Given the description of an element on the screen output the (x, y) to click on. 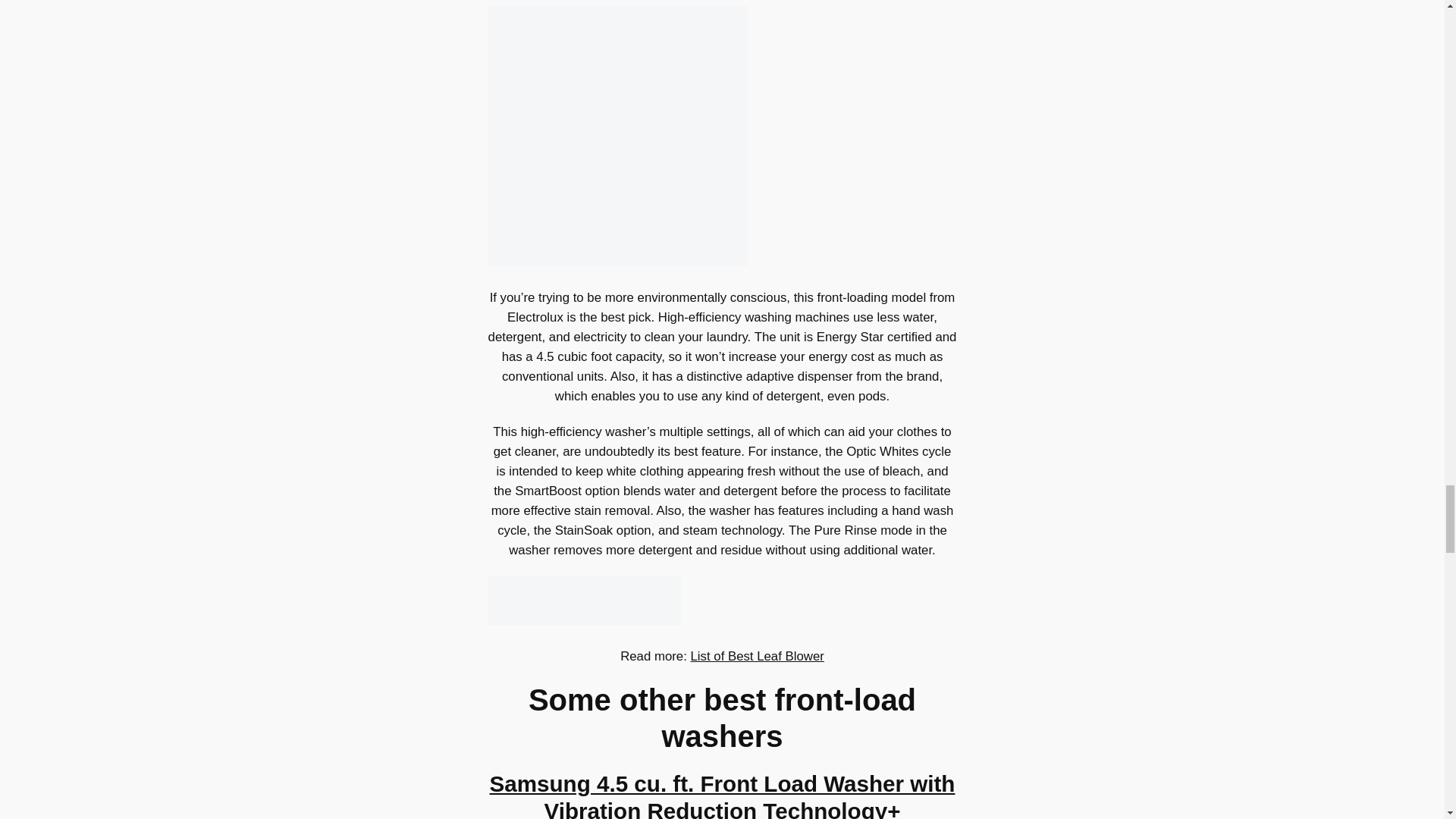
List of Best Leaf Blower (757, 656)
